Given the description of an element on the screen output the (x, y) to click on. 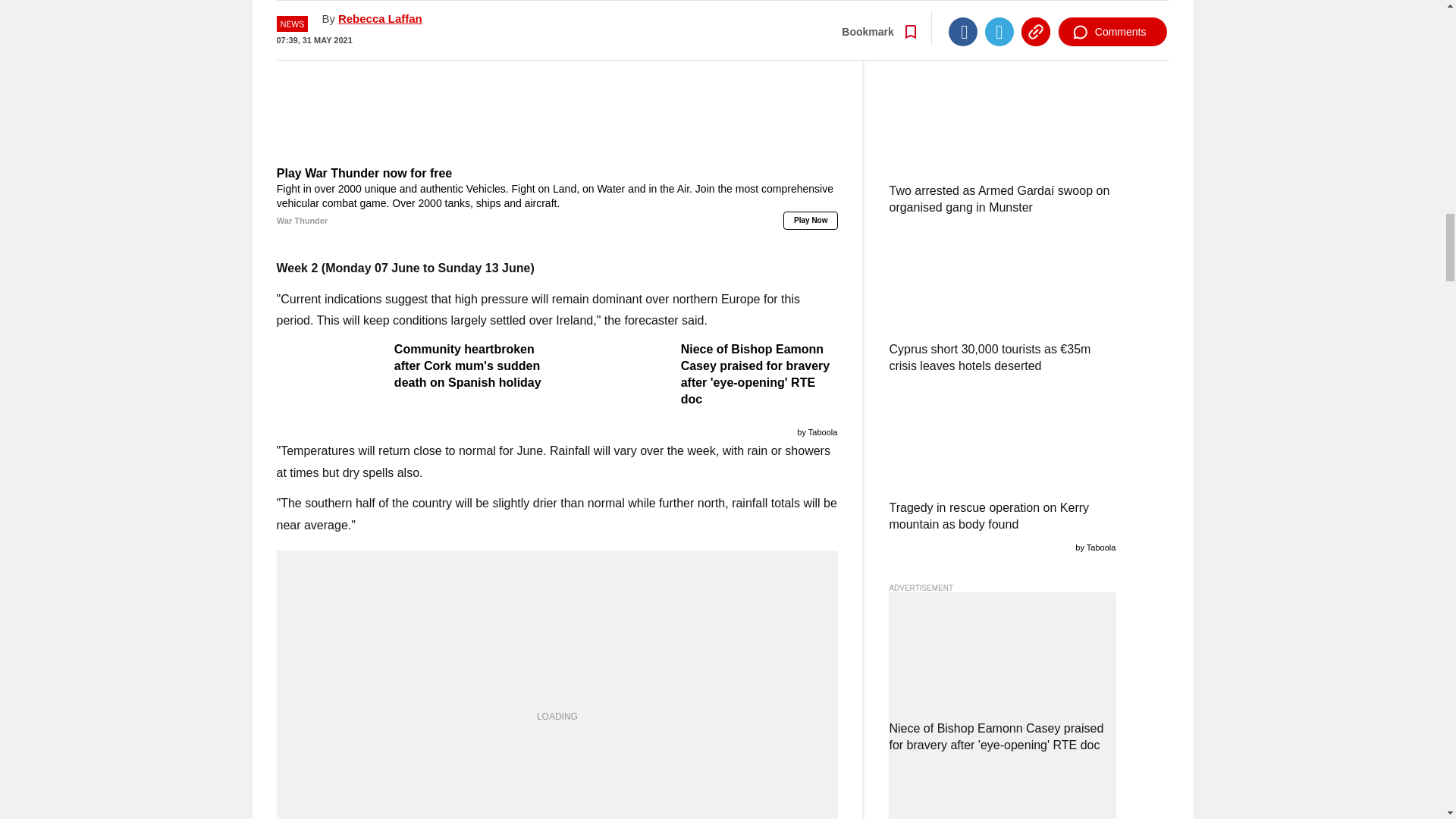
Play War Thunder now for free (557, 197)
